Given the description of an element on the screen output the (x, y) to click on. 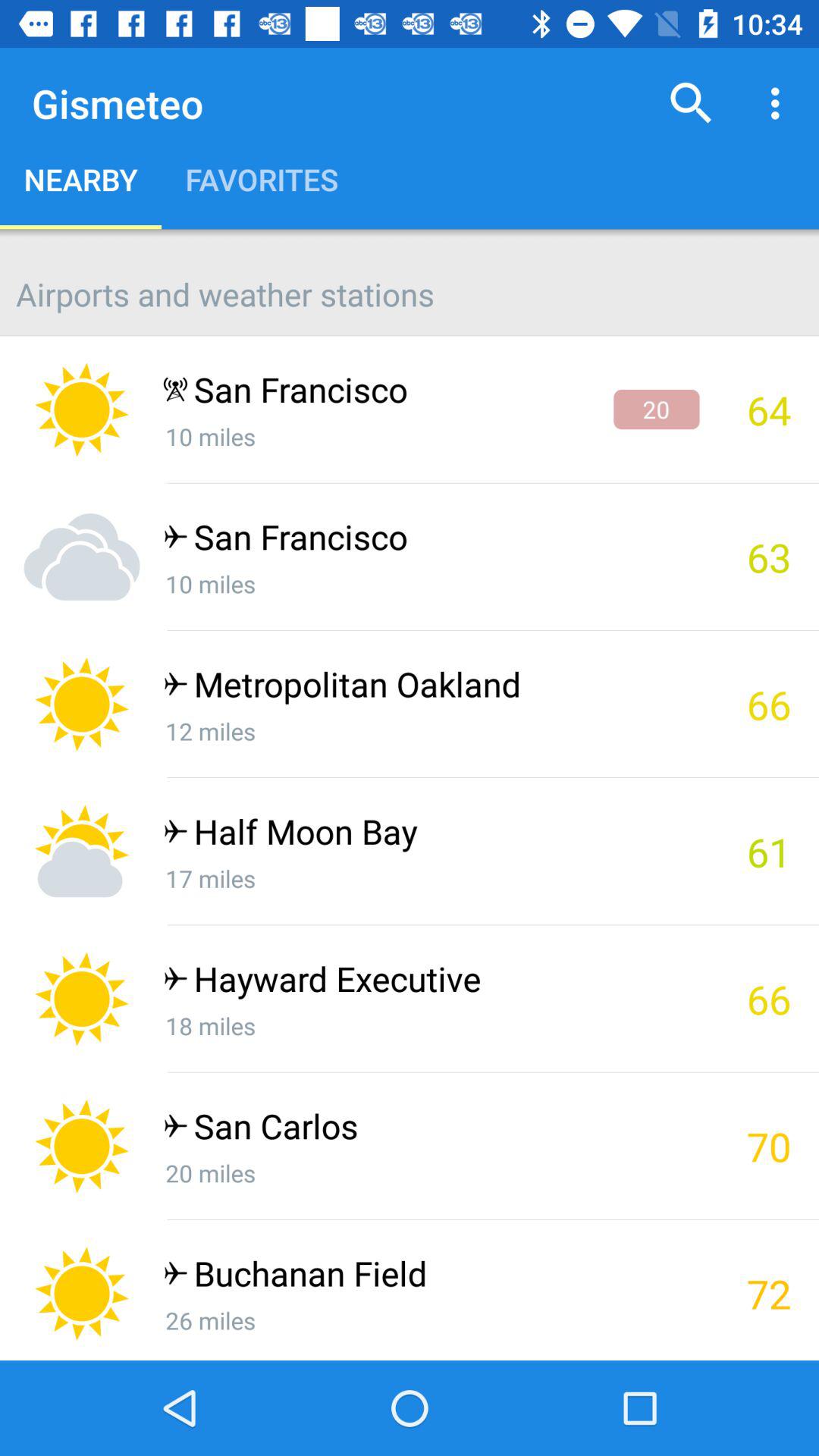
press item below the san carlos app (431, 1172)
